Given the description of an element on the screen output the (x, y) to click on. 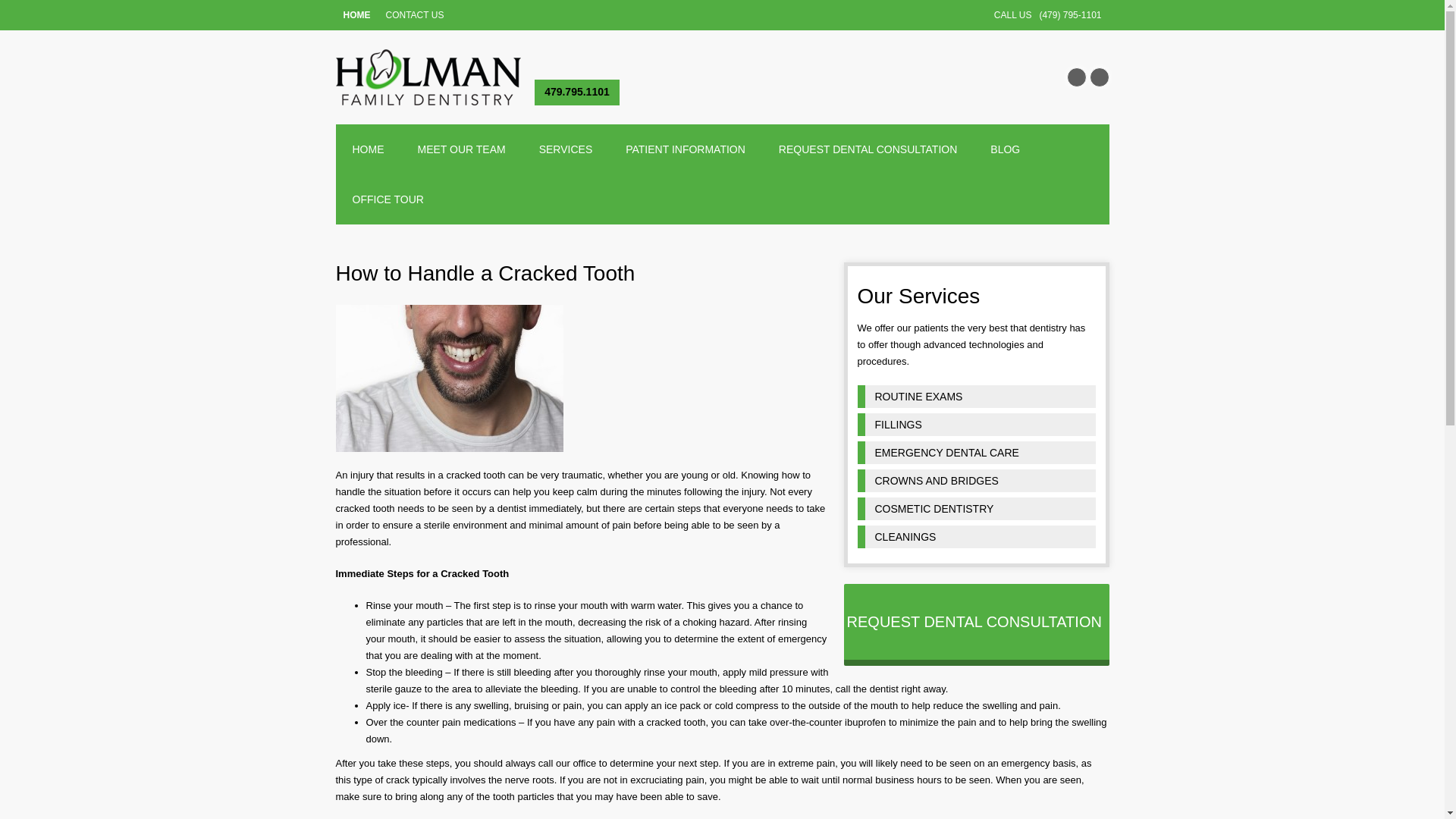
PATIENT INFORMATION (684, 149)
Request Dental Consultation (867, 149)
FILLINGS (975, 424)
BLOG (1005, 149)
Office Tour (386, 199)
ROUTINE EXAMS (975, 395)
COSMETIC DENTISTRY (975, 508)
Home (367, 149)
Meet Our Team (460, 149)
MEET OUR TEAM (460, 149)
479.795.1101 (577, 92)
Blog (1005, 149)
HOME (367, 149)
Patient Information (684, 149)
SERVICES (566, 149)
